Given the description of an element on the screen output the (x, y) to click on. 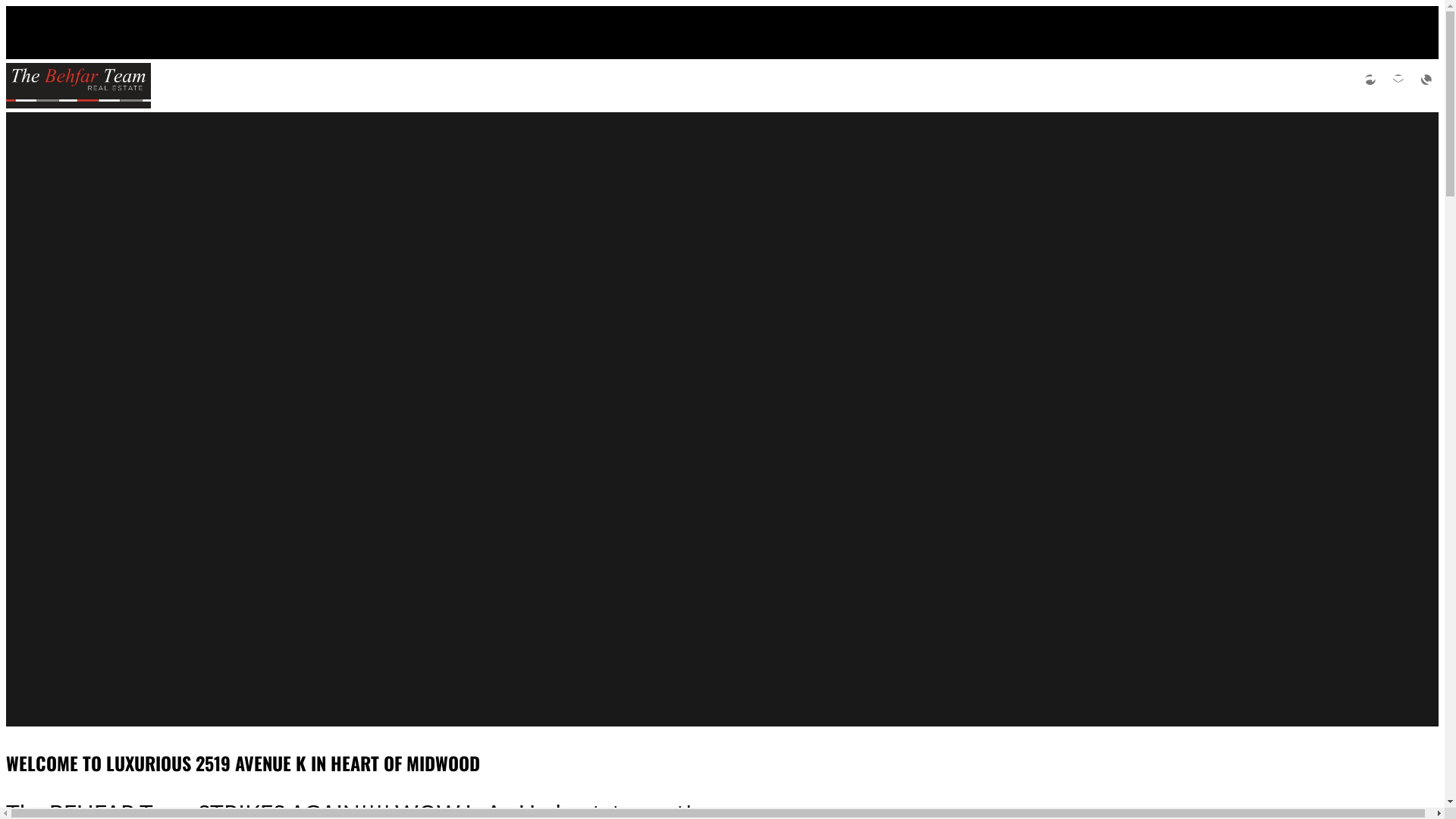
CONTACT Element type: hover (1398, 85)
SHARE THIS PAGE Element type: hover (1370, 85)
CONTACT Element type: hover (1426, 85)
